Given the description of an element on the screen output the (x, y) to click on. 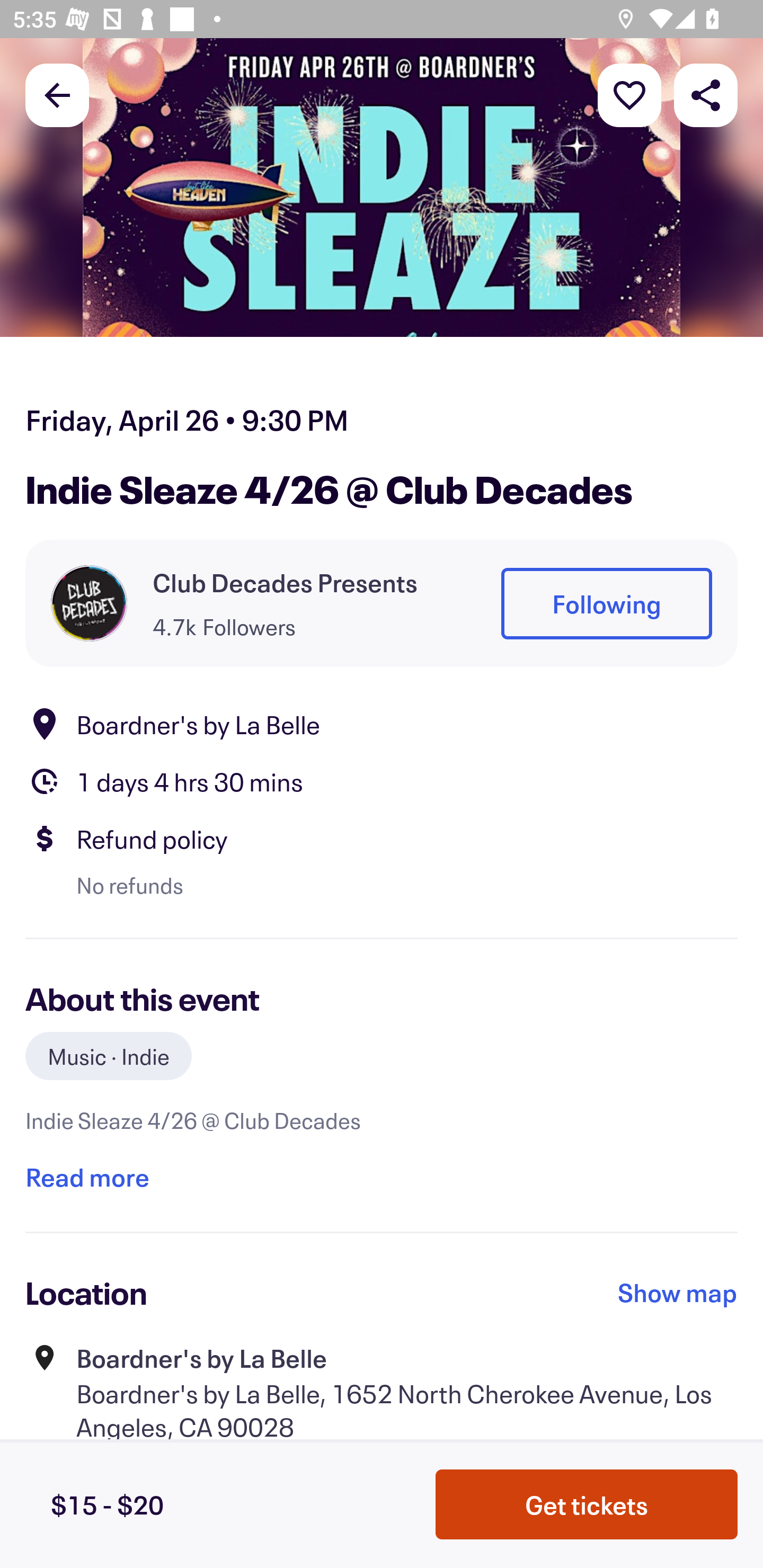
Back (57, 94)
More (629, 94)
Share (705, 94)
Club Decades Presents (284, 582)
Organizer profile picture (89, 602)
Following (606, 603)
Location Boardner's by La Belle (381, 724)
Read more (87, 1176)
Show map (677, 1292)
Get tickets (586, 1504)
